Given the description of an element on the screen output the (x, y) to click on. 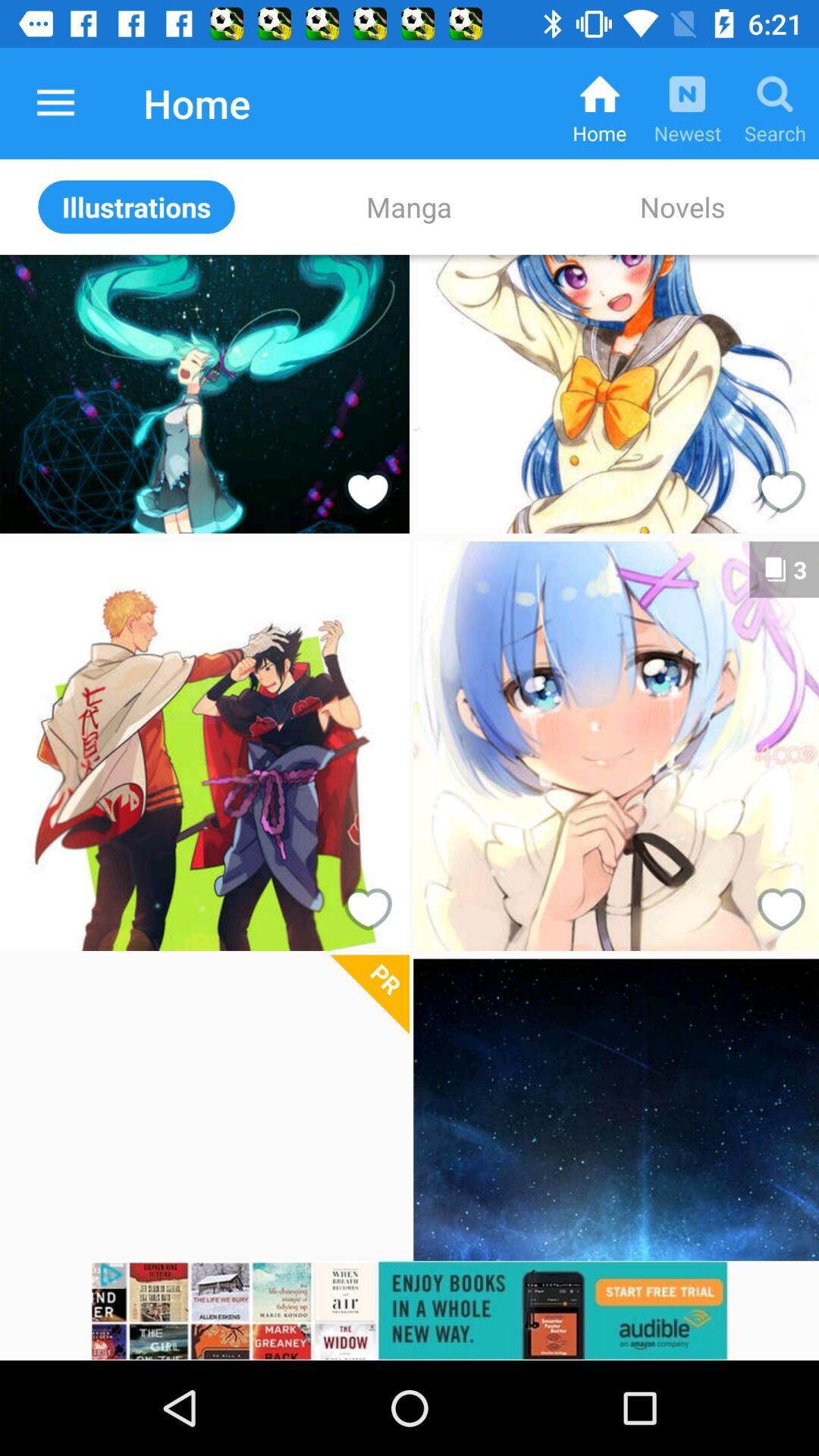
select picture (204, 1109)
